Given the description of an element on the screen output the (x, y) to click on. 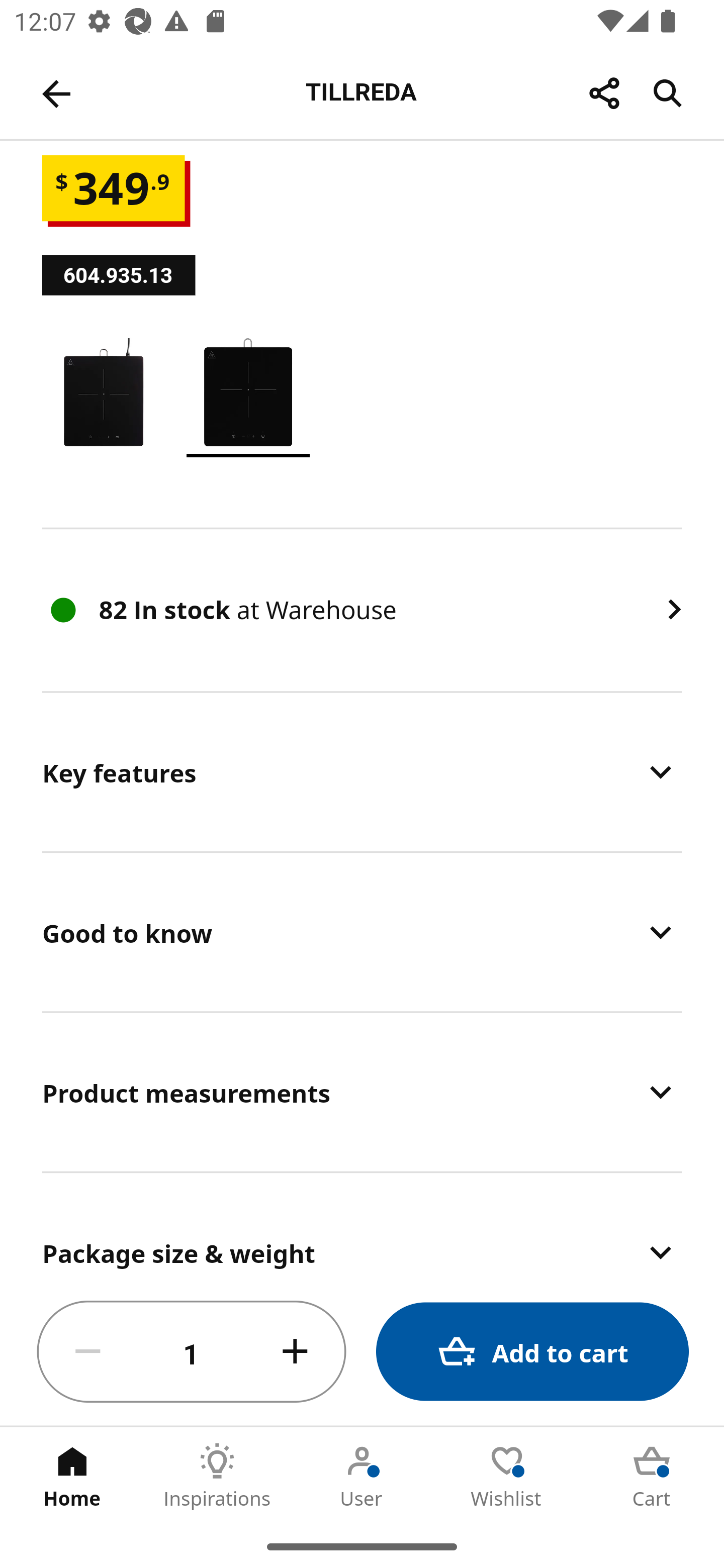
82 In stock at Warehouse (361, 610)
Key features (361, 771)
Good to know (361, 931)
Product measurements (361, 1091)
Package size & weight (361, 1225)
Add to cart (531, 1352)
1 (191, 1352)
Home
Tab 1 of 5 (72, 1476)
Inspirations
Tab 2 of 5 (216, 1476)
User
Tab 3 of 5 (361, 1476)
Wishlist
Tab 4 of 5 (506, 1476)
Cart
Tab 5 of 5 (651, 1476)
